Given the description of an element on the screen output the (x, y) to click on. 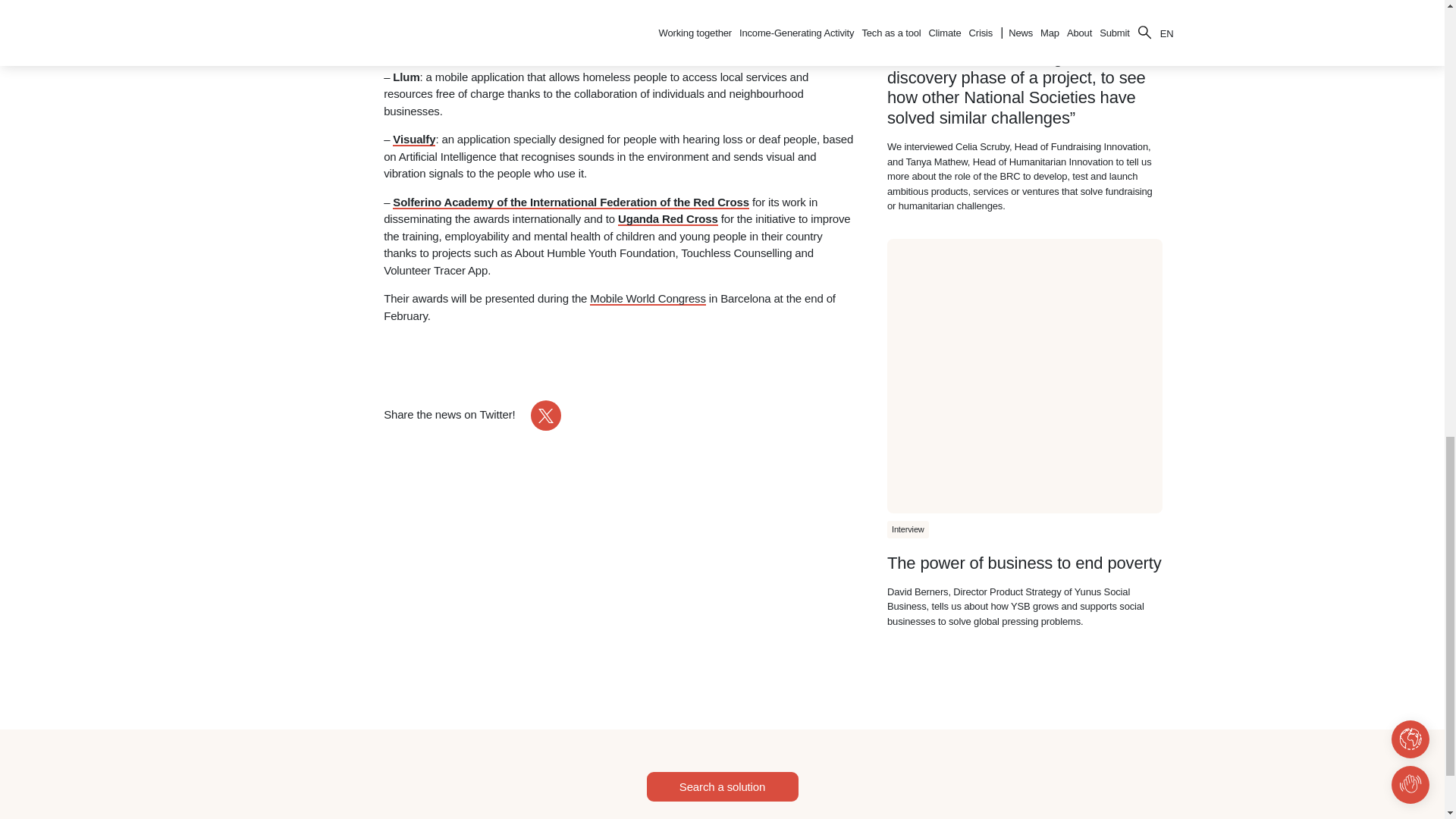
Search a solution (721, 786)
Interview (907, 529)
Uganda Red Cross (667, 219)
Interview (907, 6)
Search a solution (721, 786)
Visualfy (414, 139)
Mobile World Congress (646, 298)
Share the news on Twitter! (472, 415)
